Given the description of an element on the screen output the (x, y) to click on. 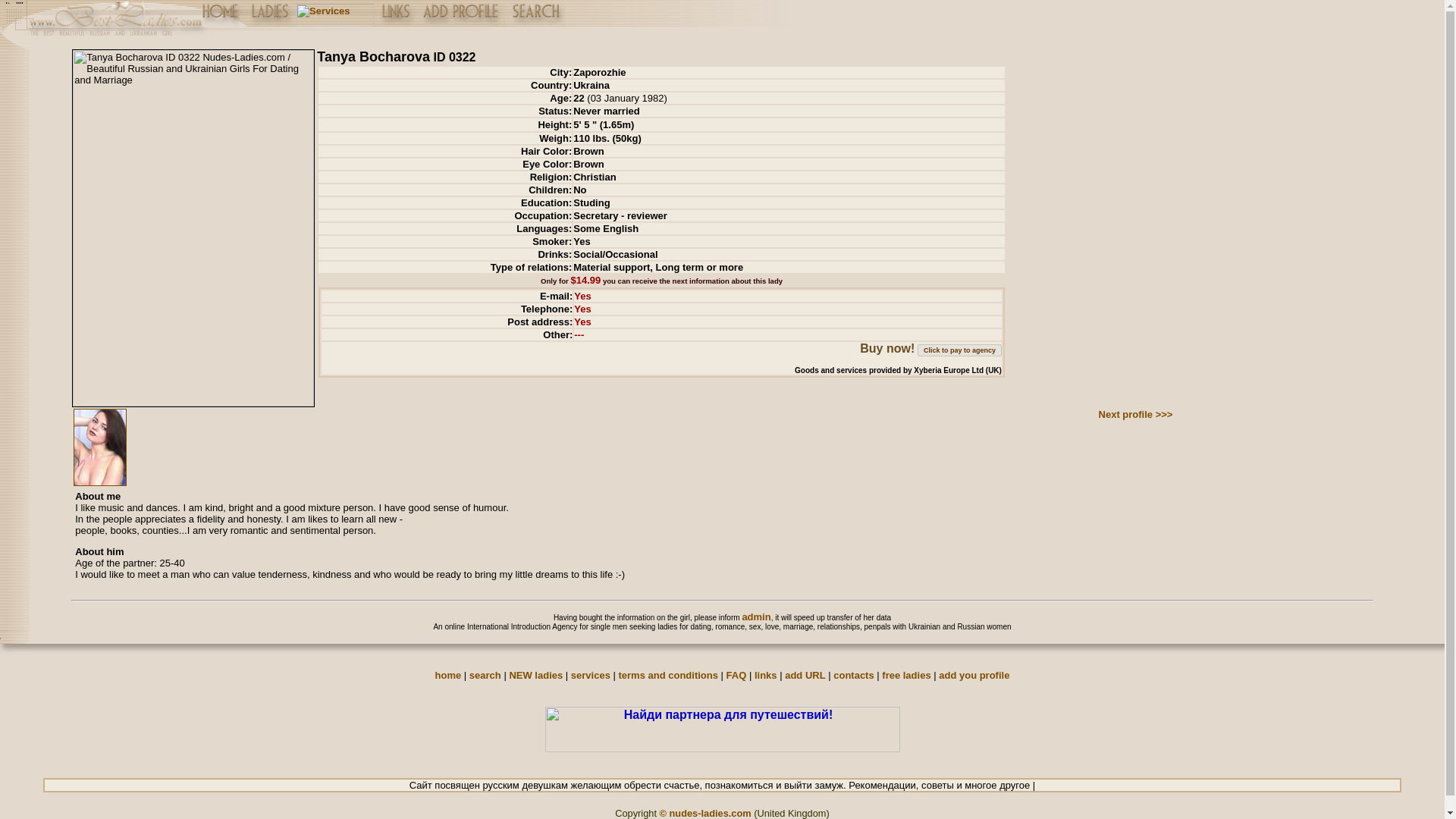
admin (755, 616)
Home Bes-Ladies (448, 674)
Links of The Best Sites on the Net (765, 674)
FAQ (736, 674)
Only for the girl! (974, 674)
free ladies (906, 674)
search (484, 674)
links (765, 674)
The profiles with FREE e-mail of the women (906, 674)
Search of the most beautiful girl (484, 674)
NEW ladies (535, 674)
services (590, 674)
add you profile (974, 674)
Frequently Asked Questions (736, 674)
